Given the description of an element on the screen output the (x, y) to click on. 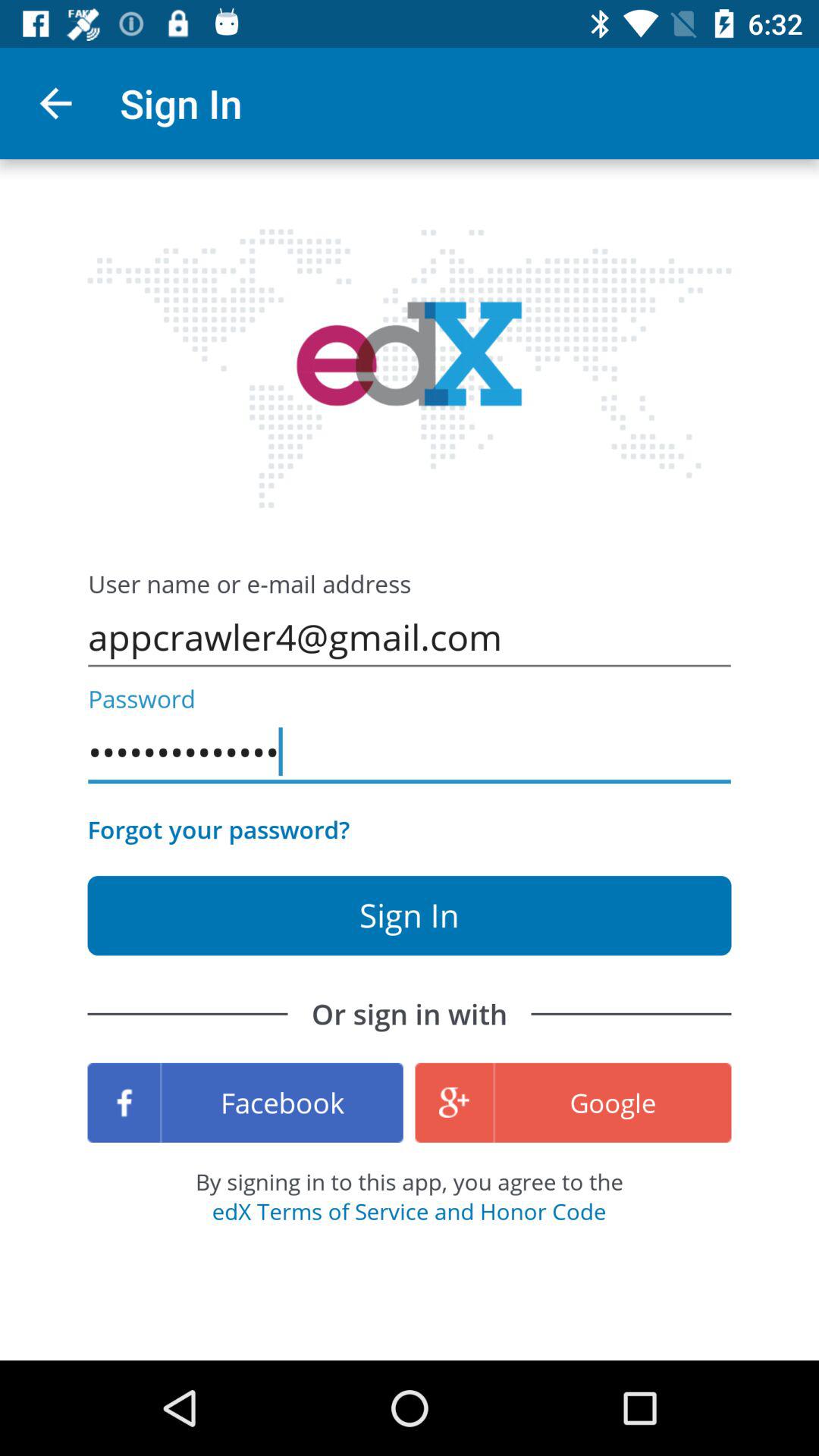
swipe until forgot your password? icon (218, 829)
